Given the description of an element on the screen output the (x, y) to click on. 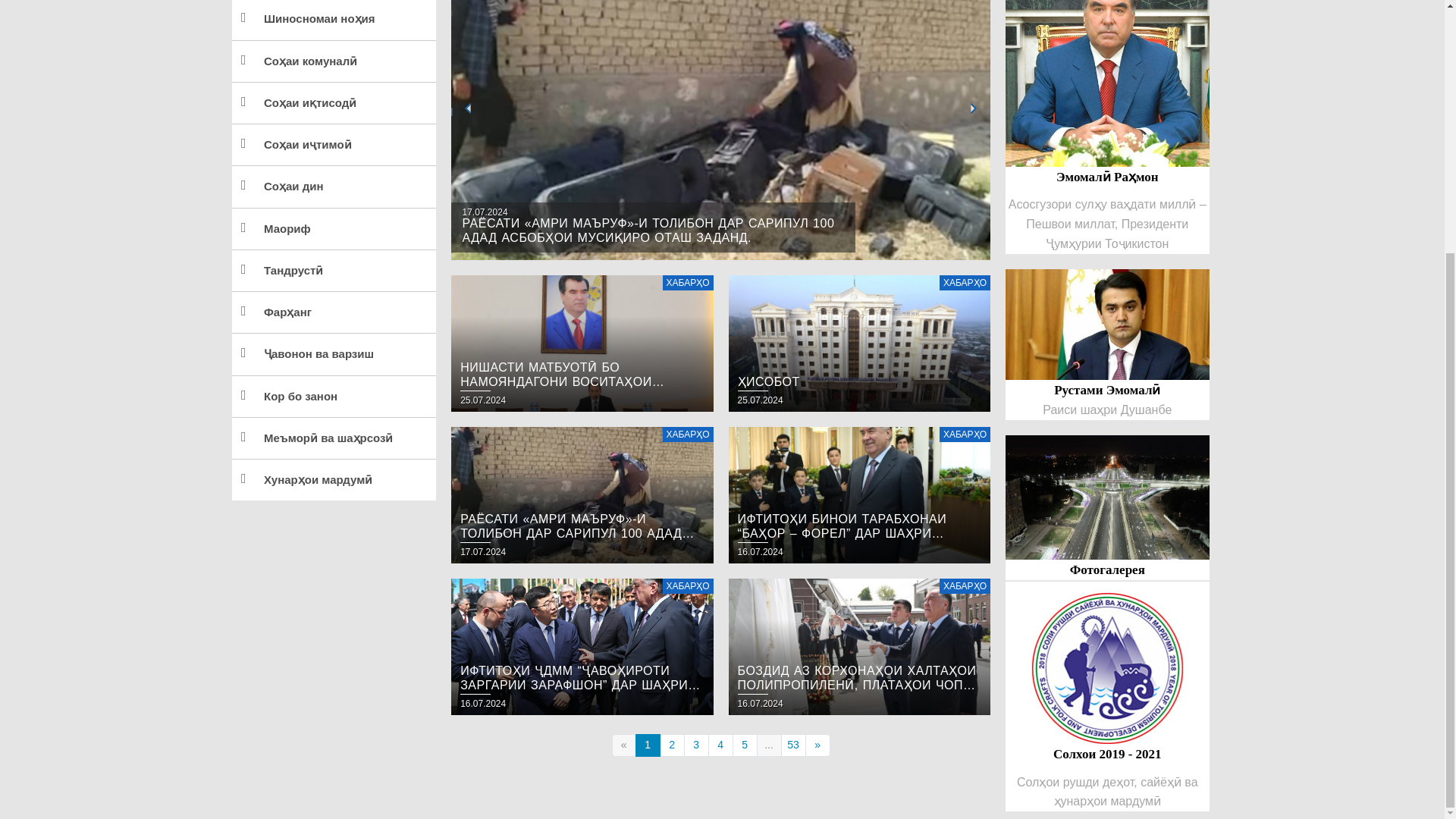
Next page (817, 744)
